Given the description of an element on the screen output the (x, y) to click on. 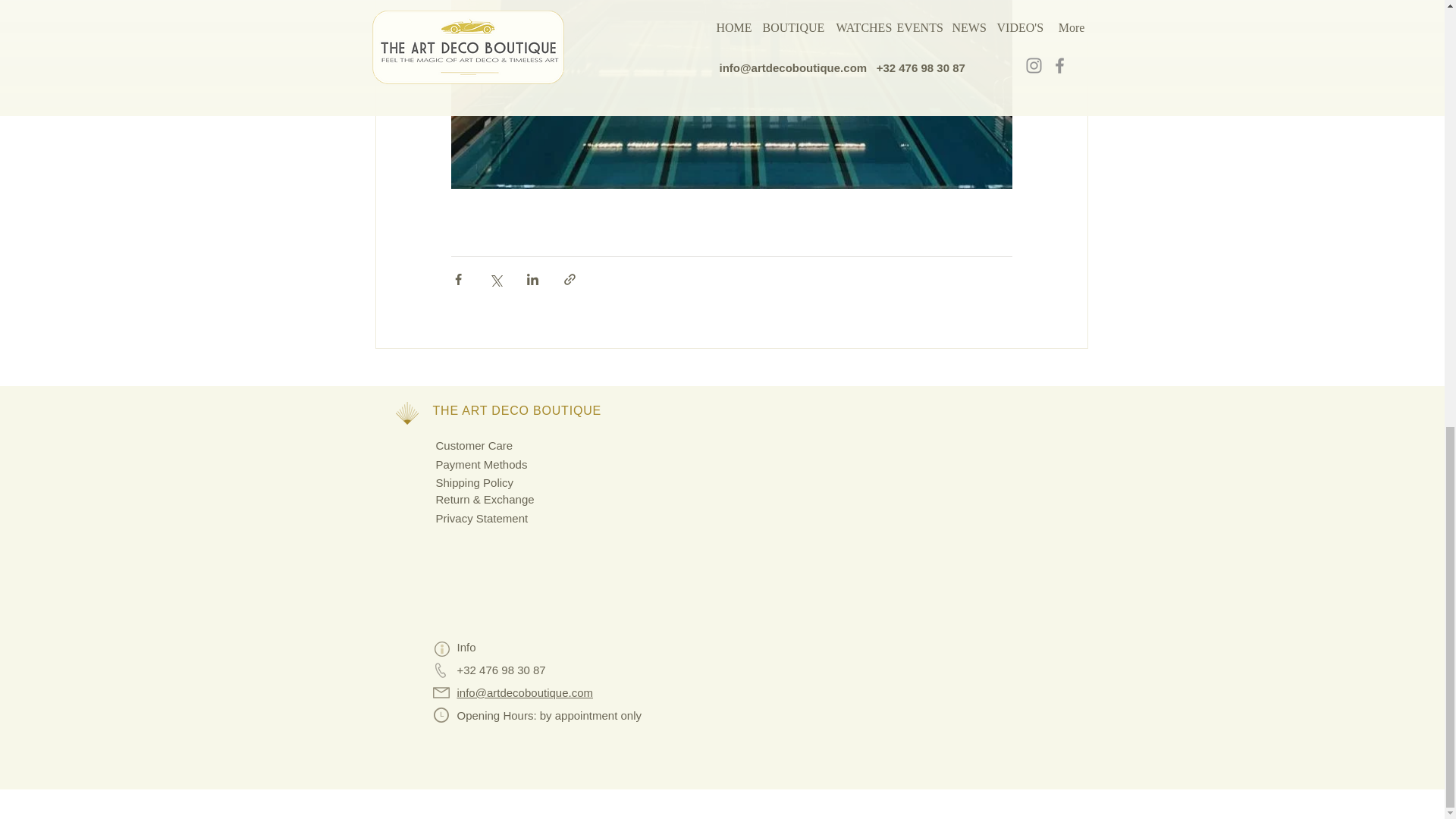
Shipping Policy (474, 481)
Customer Care (473, 445)
Info (466, 646)
Payment Methods (481, 463)
Privacy Statement (481, 517)
